Given the description of an element on the screen output the (x, y) to click on. 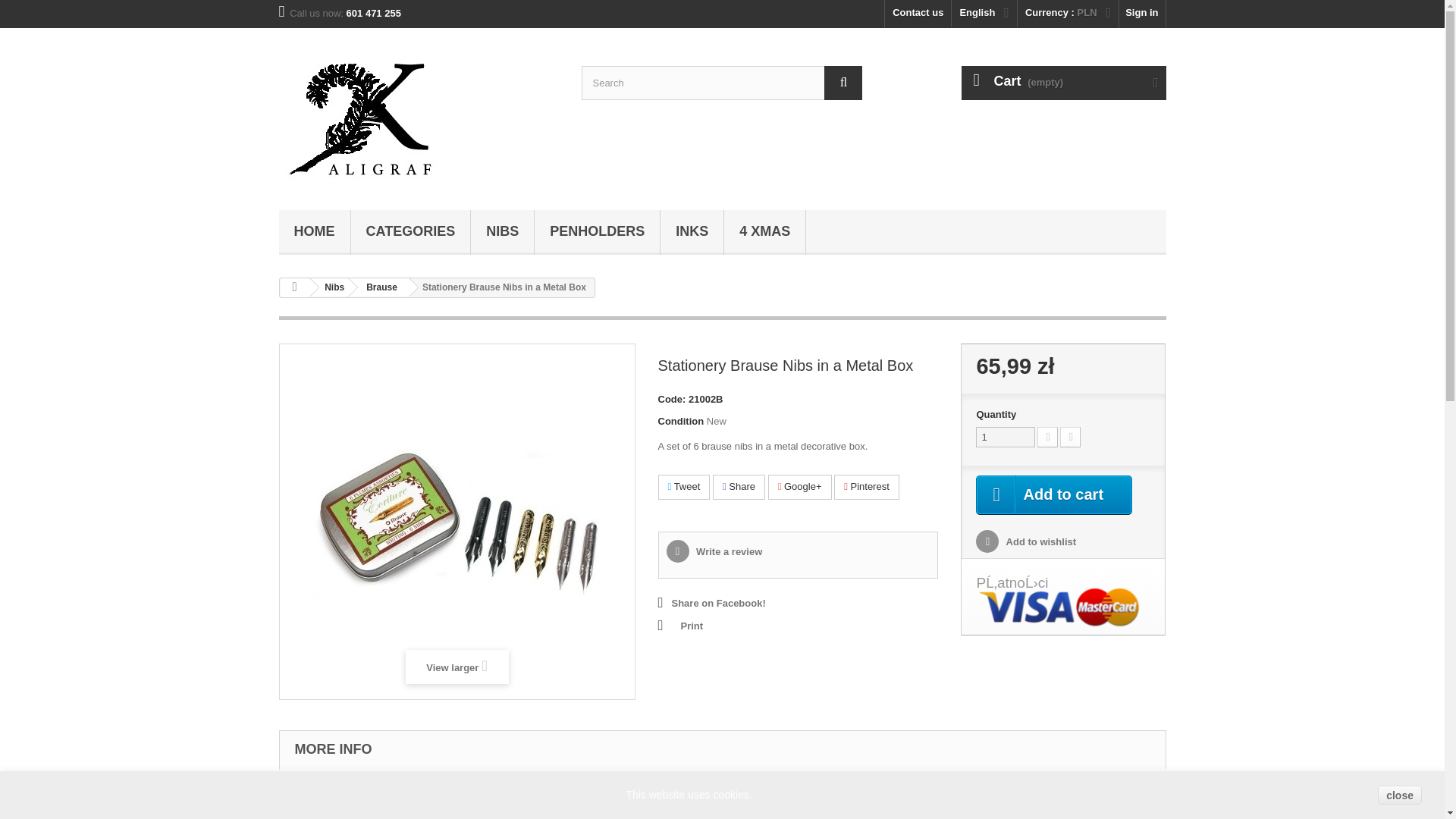
CATEGORIES (410, 231)
Log in to your customer account (1141, 13)
Contact us (917, 13)
HOME (314, 231)
Sign in (1141, 13)
Categories (410, 231)
Home (314, 231)
1 (1005, 436)
View my shopping cart (1063, 82)
Calligraphers' Shop (419, 114)
Contact Us (917, 13)
